Given the description of an element on the screen output the (x, y) to click on. 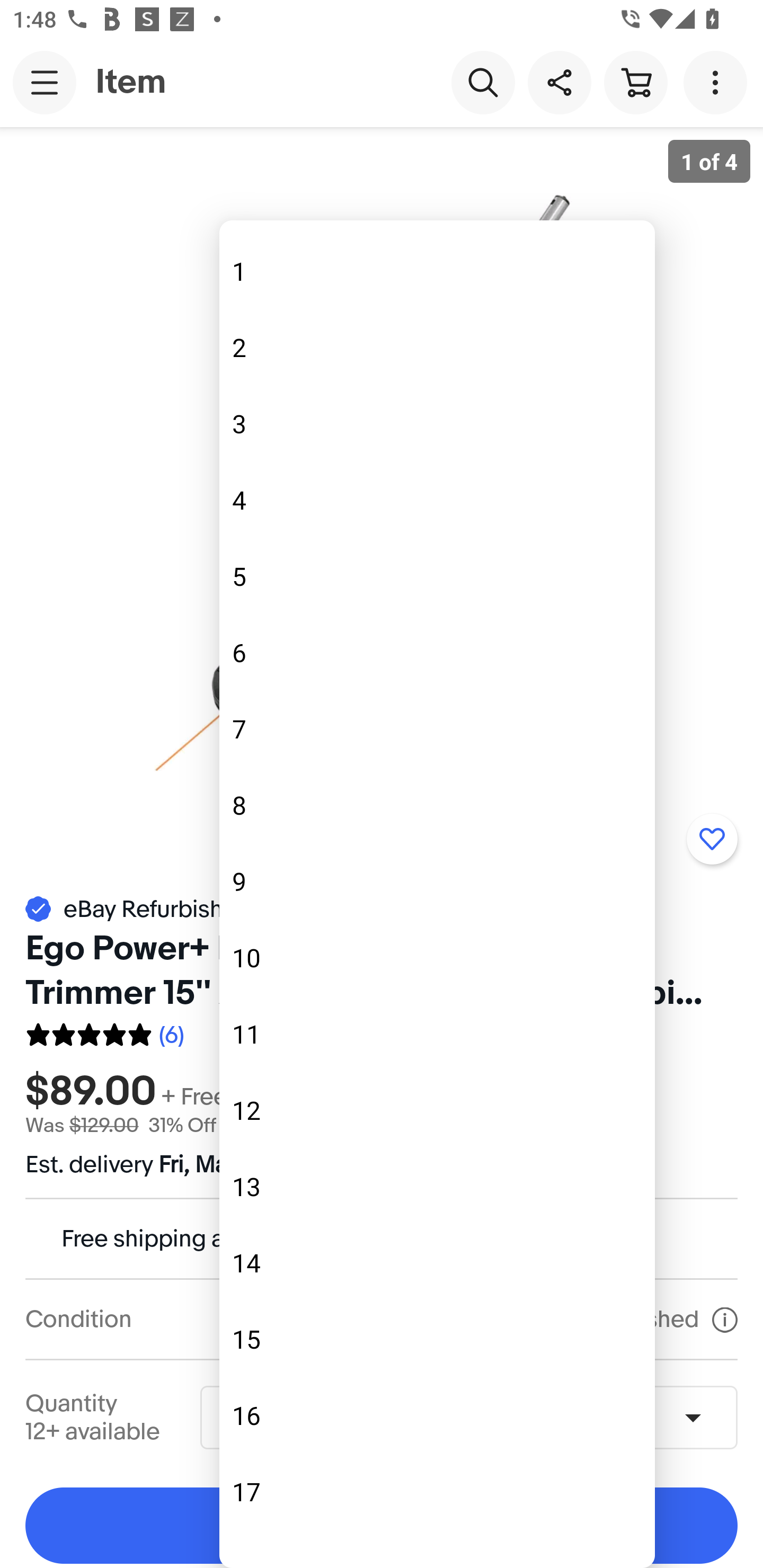
1 (436, 270)
2 (436, 346)
3 (436, 423)
4 (436, 499)
5 (436, 575)
6 (436, 652)
7 (436, 728)
8 (436, 804)
9 (436, 880)
10 (436, 956)
11 (436, 1033)
12 (436, 1109)
13 (436, 1185)
14 (436, 1262)
15 (436, 1338)
16 (436, 1414)
17 (436, 1491)
